Given the description of an element on the screen output the (x, y) to click on. 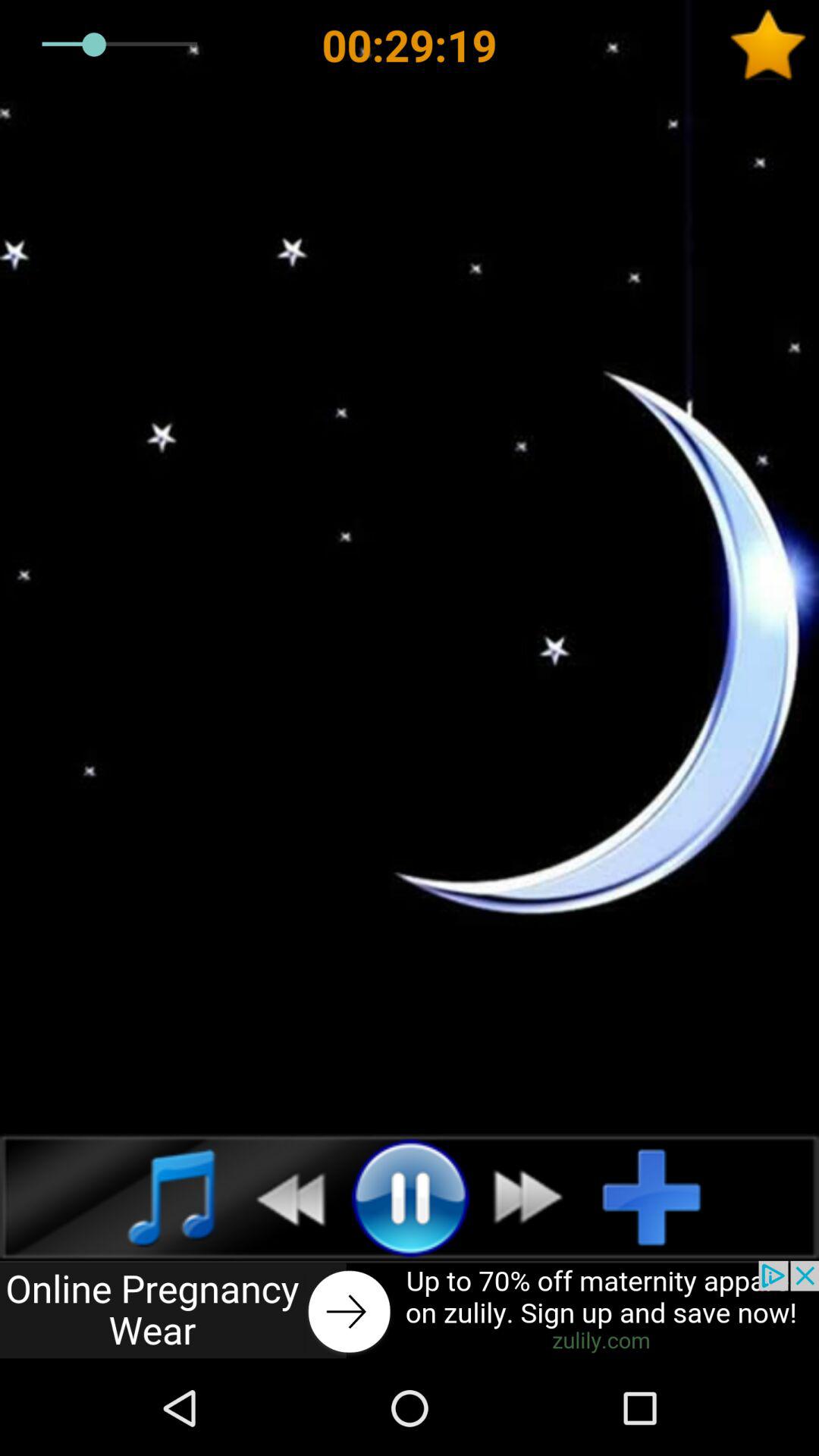
save to favorites (774, 44)
